Given the description of an element on the screen output the (x, y) to click on. 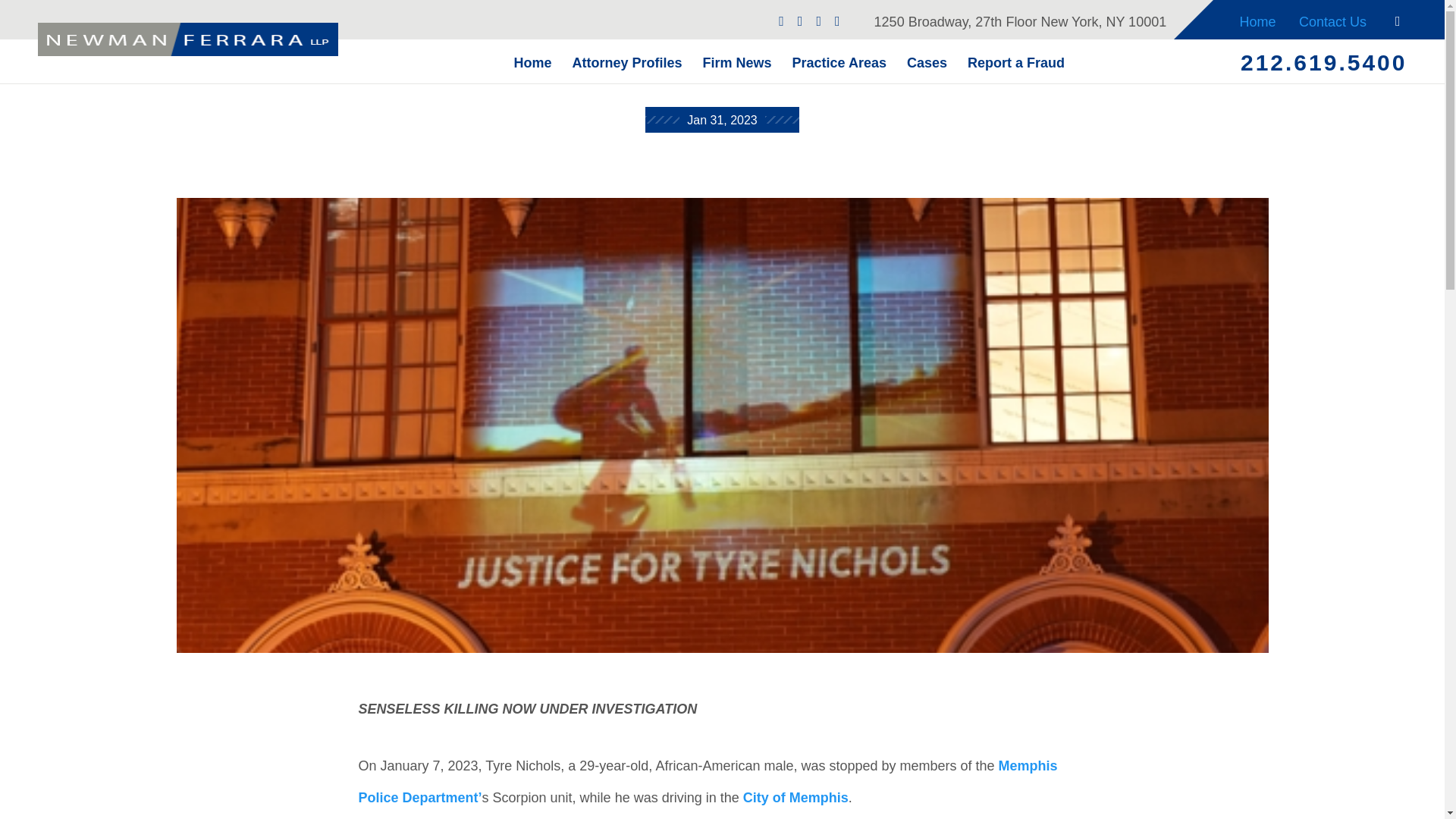
Home (1257, 19)
Attorney Profiles (626, 61)
212.619.5400 (1323, 62)
Practice Areas (839, 61)
Newman Ferrara LLP (187, 39)
Cases (927, 61)
Report a Fraud (1016, 61)
Contact Us (1332, 19)
Firm News (736, 61)
